Given the description of an element on the screen output the (x, y) to click on. 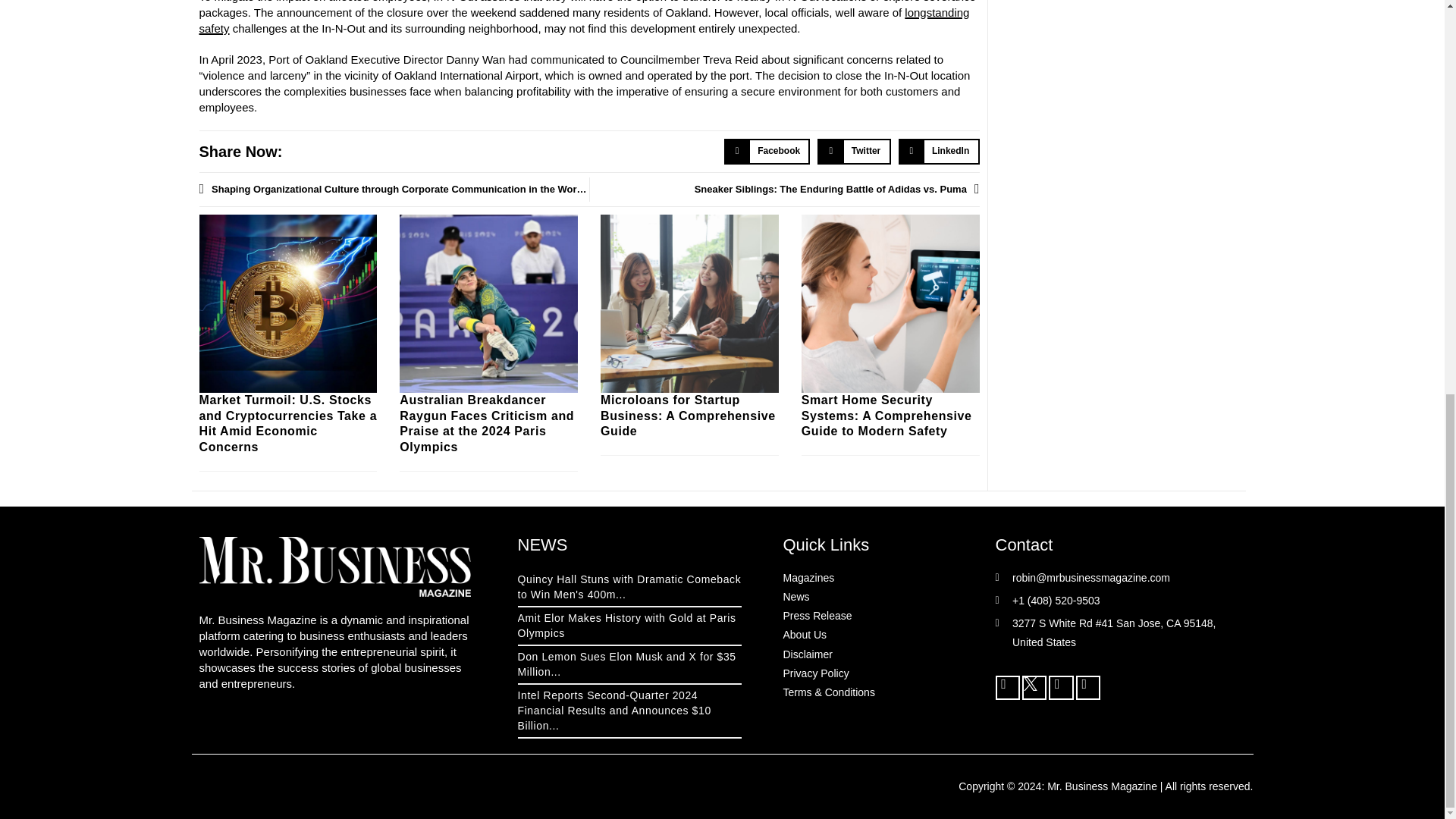
Sneaker Siblings: The Enduring Battle of Adidas vs. Puma (784, 189)
longstanding safety (583, 20)
